Given the description of an element on the screen output the (x, y) to click on. 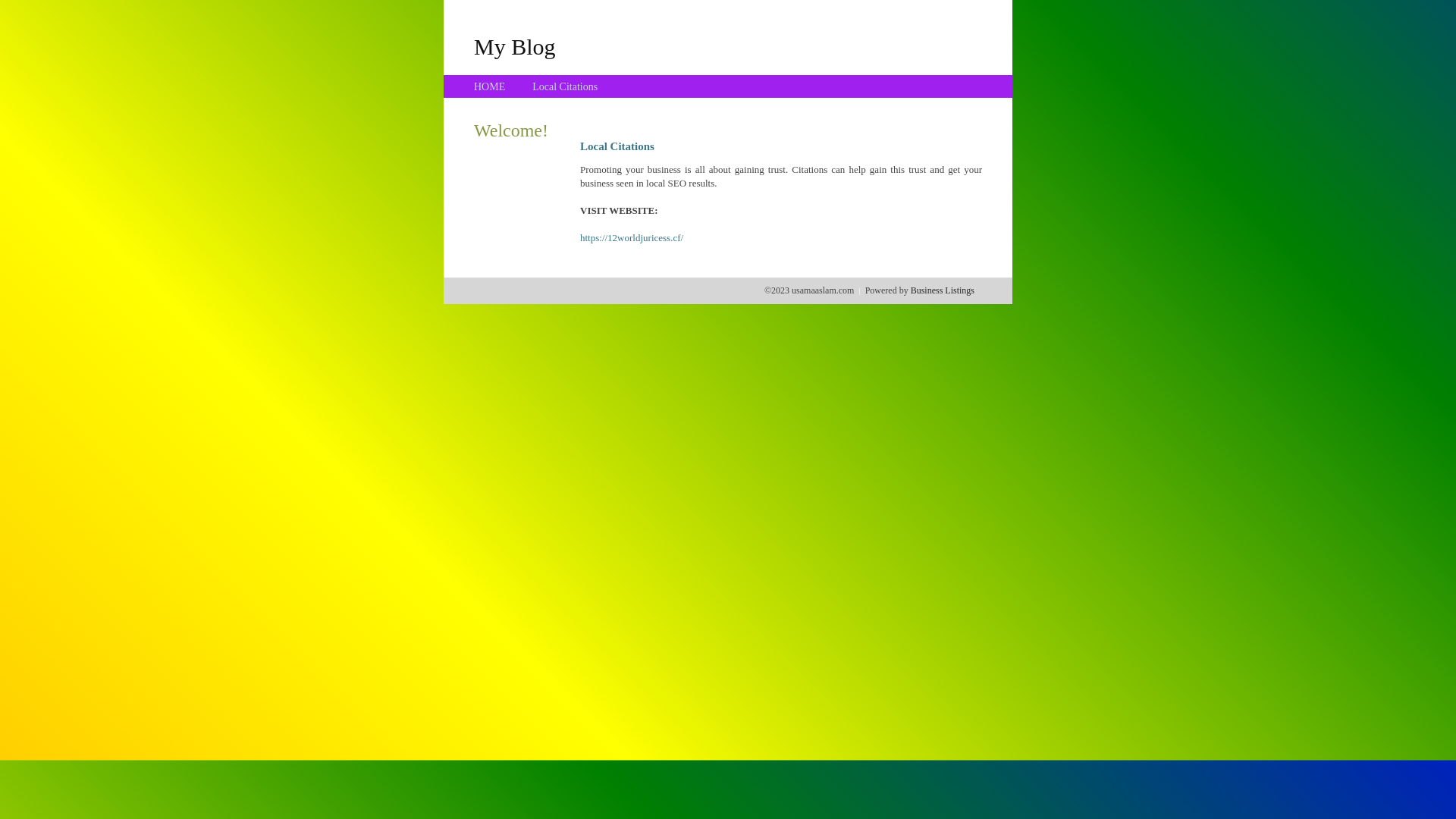
Business Listings Element type: text (942, 290)
HOME Element type: text (489, 86)
https://12worldjuricess.cf/ Element type: text (631, 237)
Local Citations Element type: text (564, 86)
My Blog Element type: text (514, 46)
